Given the description of an element on the screen output the (x, y) to click on. 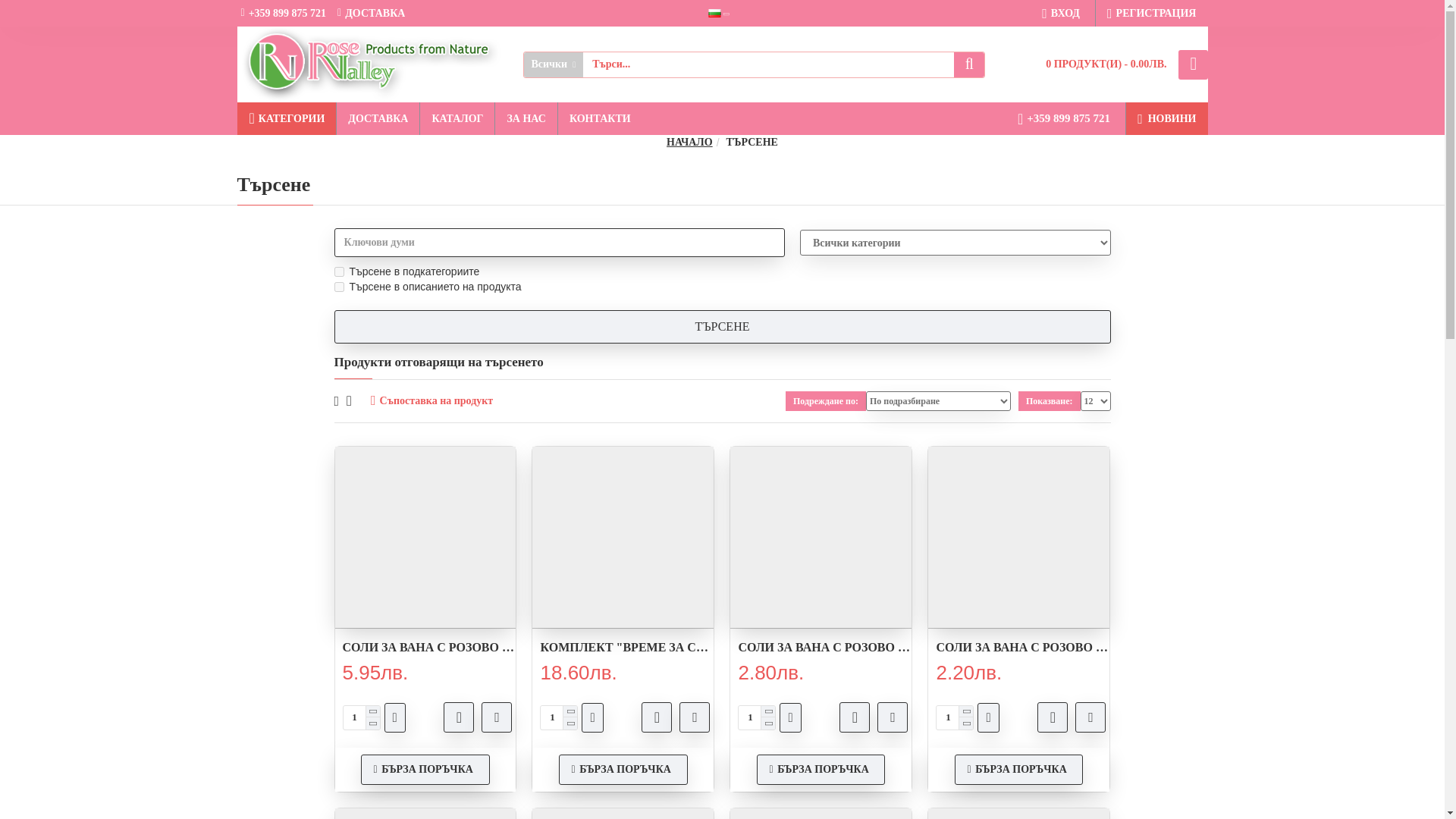
1 (360, 717)
1 (558, 717)
Rose Valley Bulgaria (369, 63)
1 (756, 717)
Bulgarian (713, 13)
1 (954, 717)
1 (338, 286)
1 (338, 271)
